Given the description of an element on the screen output the (x, y) to click on. 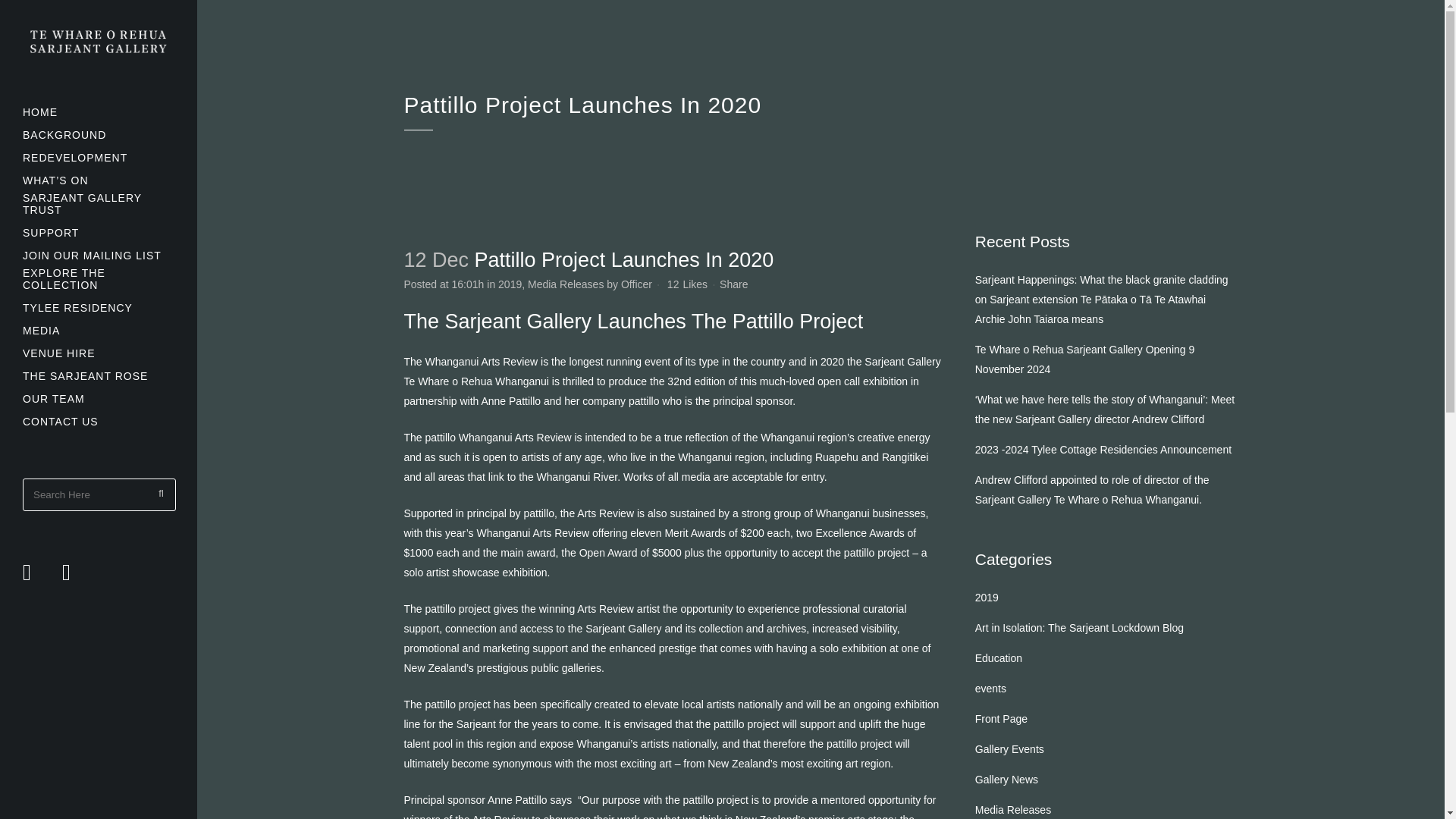
HOME (98, 111)
TYLEE RESIDENCY (98, 307)
SARJEANT GALLERY TRUST (98, 206)
SUPPORT (98, 232)
JOIN OUR MAILING LIST (98, 255)
CONTACT US (98, 421)
Like this (686, 284)
BACKGROUND (98, 134)
REDEVELOPMENT (98, 157)
OUR TEAM (98, 398)
